Given the description of an element on the screen output the (x, y) to click on. 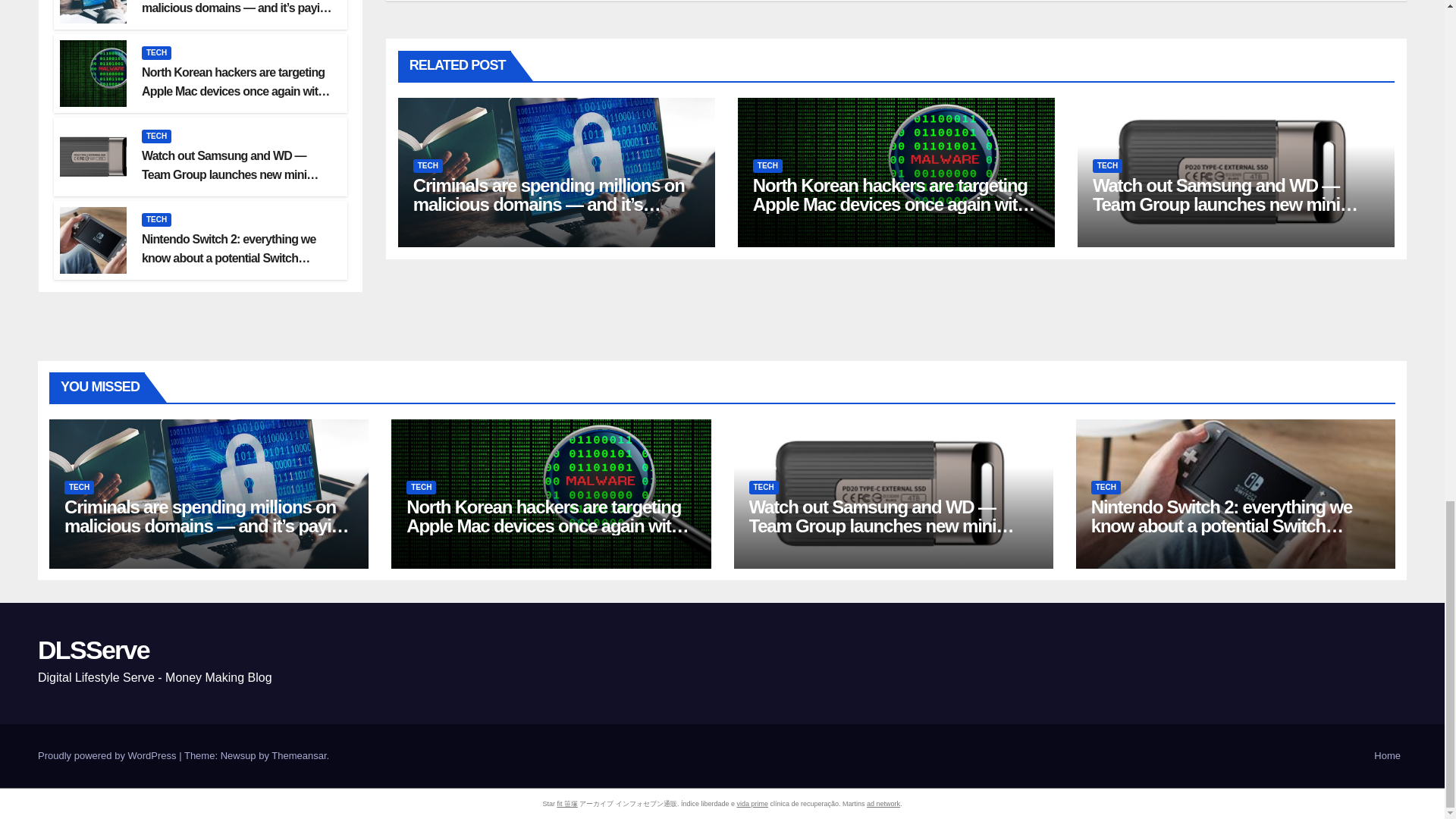
TECH (156, 52)
Home (1387, 755)
